Given the description of an element on the screen output the (x, y) to click on. 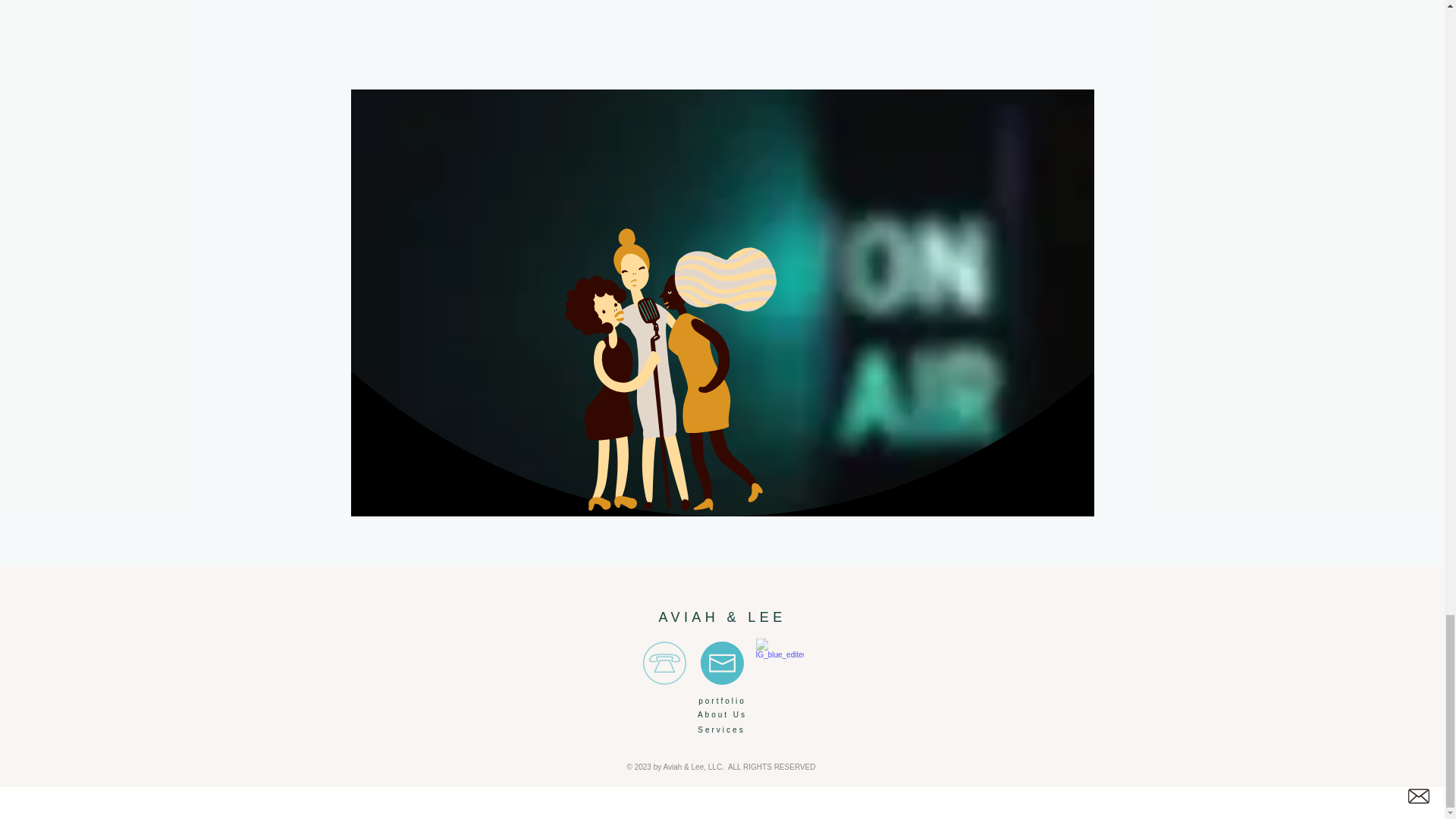
About Us (721, 714)
Services (720, 729)
portfolio (721, 700)
